Given the description of an element on the screen output the (x, y) to click on. 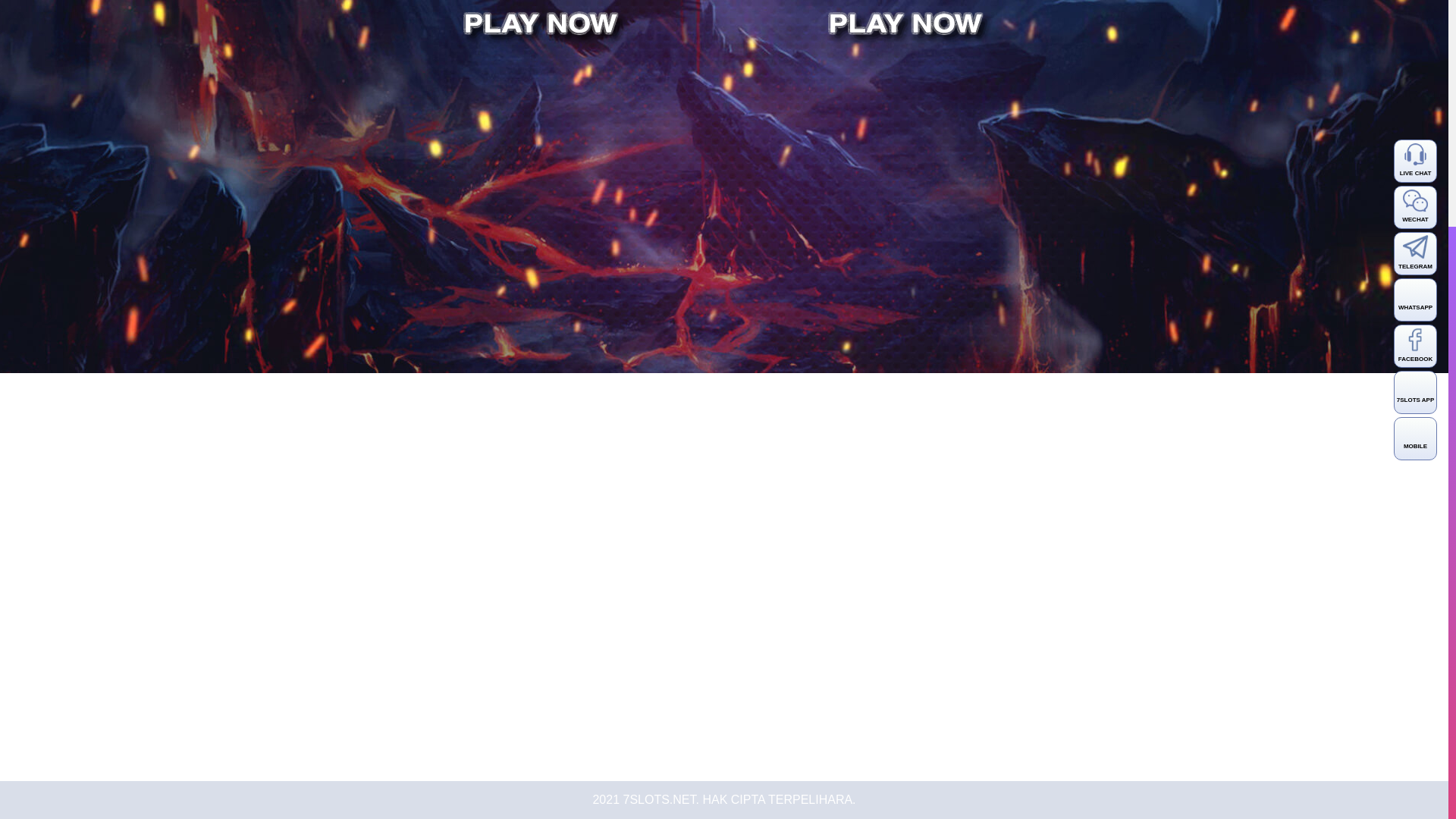
WHATSAPP (1414, 3)
7SLOTS APP (1414, 78)
FACEBOOK (1414, 32)
MOBILE (1414, 124)
